Given the description of an element on the screen output the (x, y) to click on. 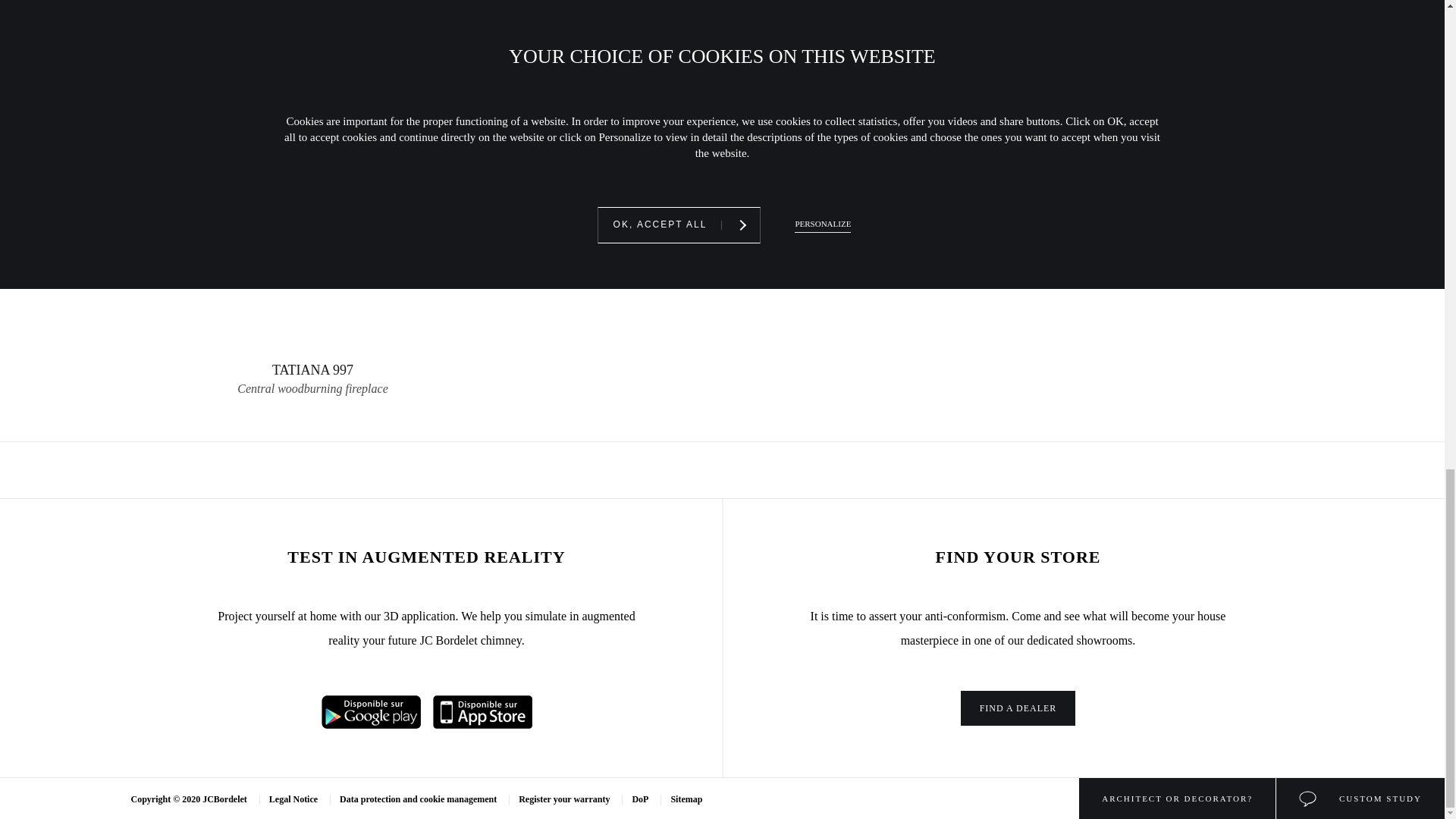
App store (481, 724)
Google play (312, 205)
TATIANA 997 (370, 724)
Find a dealer (312, 205)
